Given the description of an element on the screen output the (x, y) to click on. 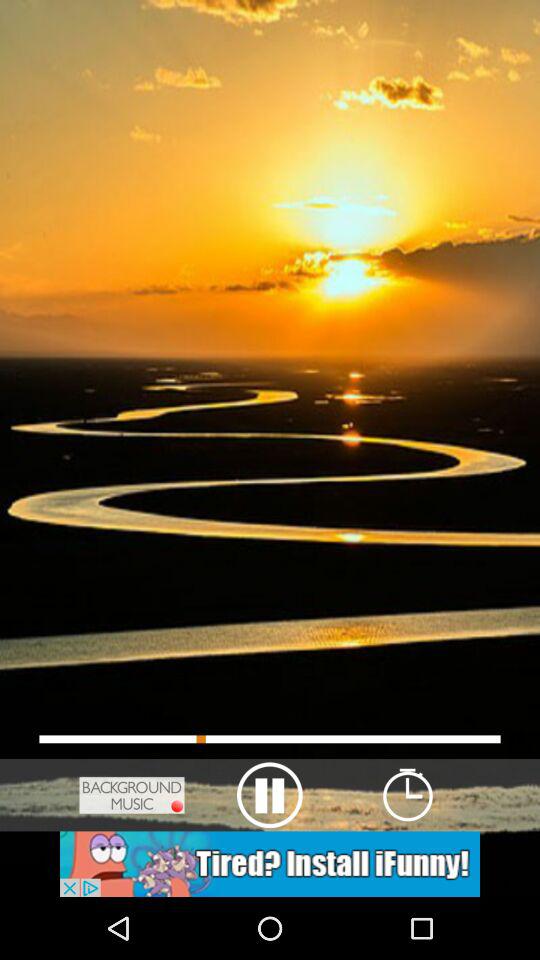
toggle autoplay option (270, 864)
